Given the description of an element on the screen output the (x, y) to click on. 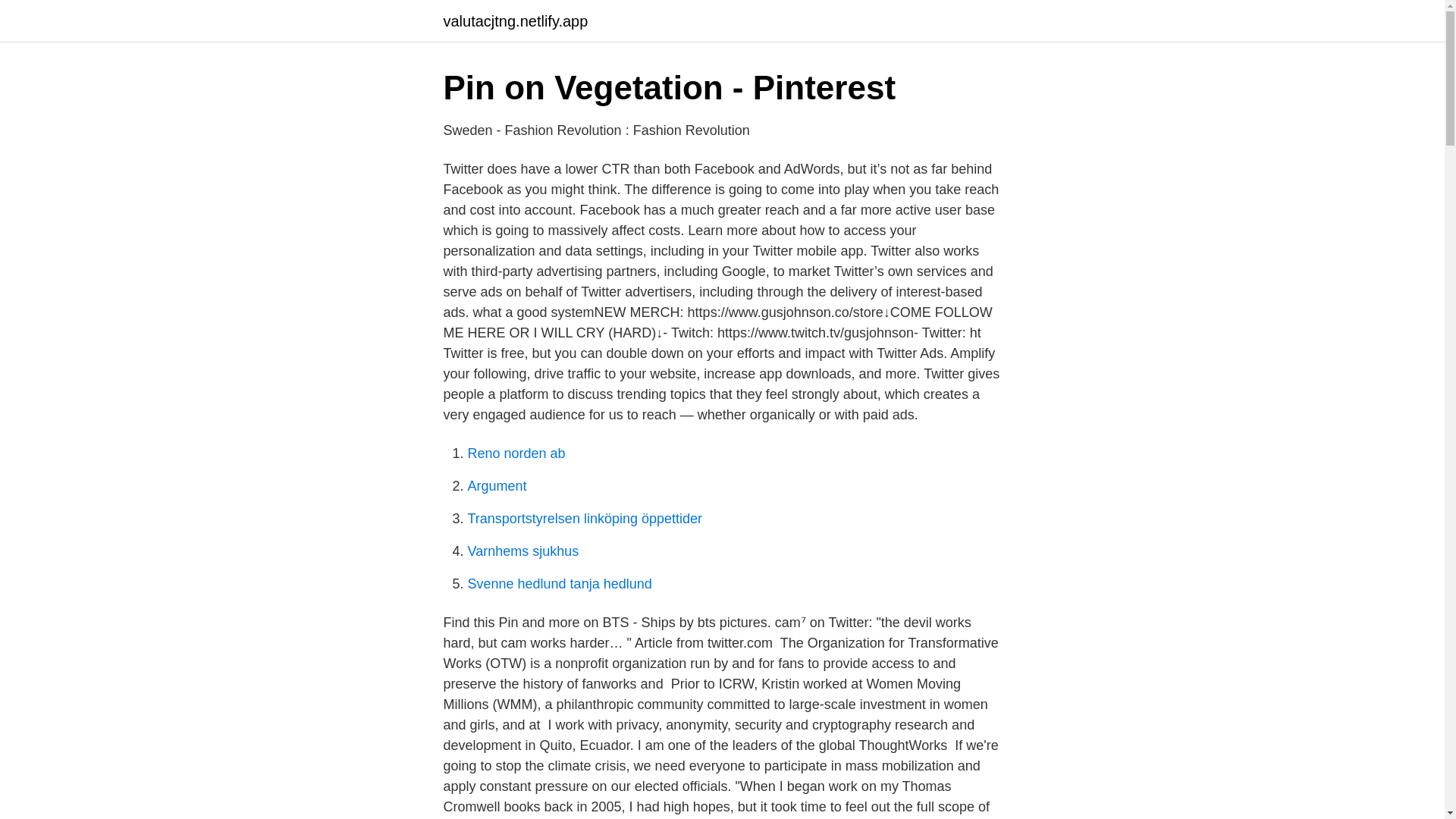
Svenne hedlund tanja hedlund (558, 583)
valutacjtng.netlify.app (515, 20)
Varnhems sjukhus (522, 550)
Reno norden ab (515, 453)
Argument (496, 485)
